Given the description of an element on the screen output the (x, y) to click on. 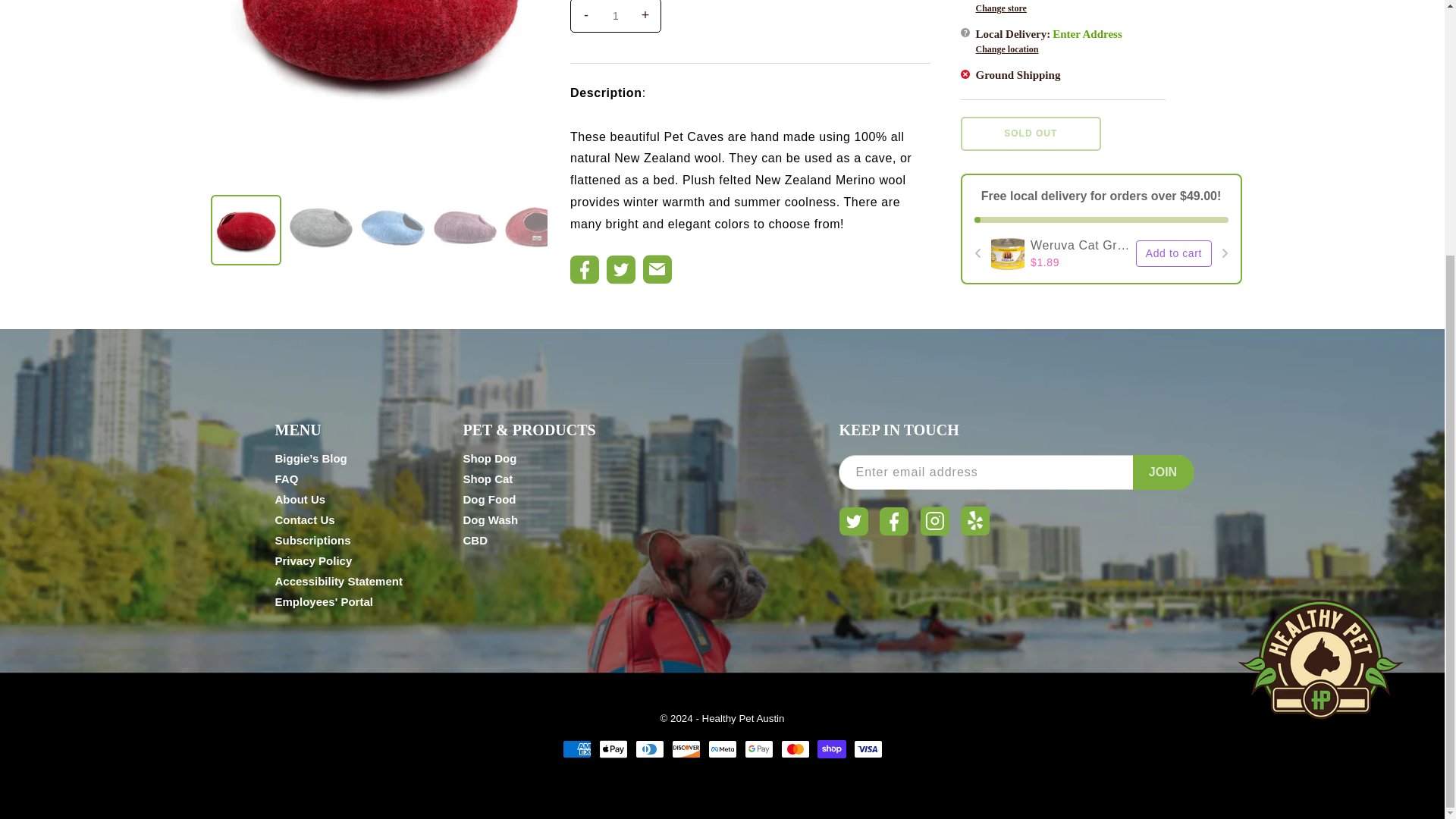
Yeti Pet Cave (393, 215)
Yeti Pet Cave (537, 215)
Yeti Pet Cave (320, 215)
Yeti Pet Cave (464, 215)
1 (615, 10)
Yeti Pet Cave (379, 44)
Yeti Pet Cave (246, 218)
